Given the description of an element on the screen output the (x, y) to click on. 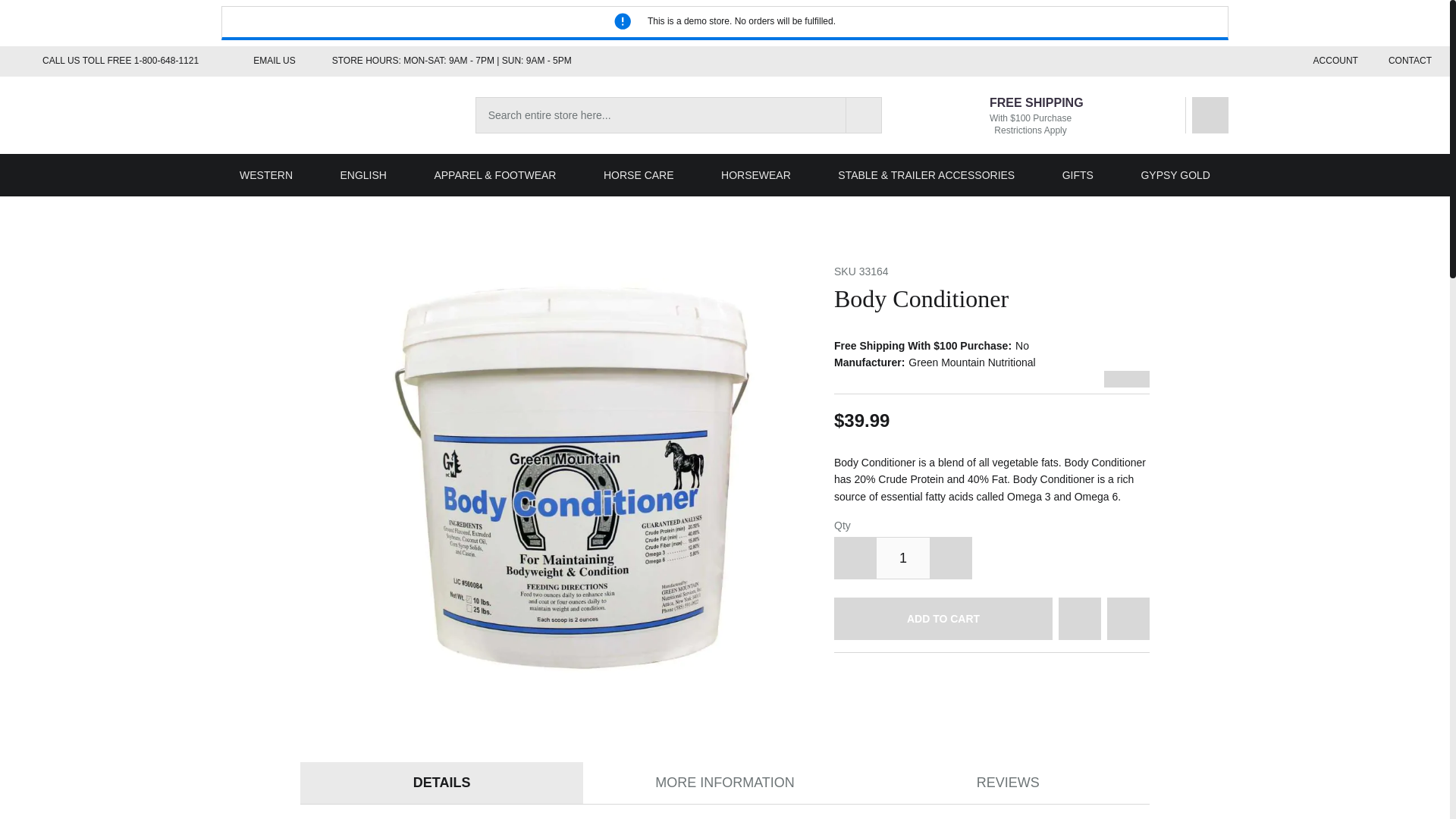
CONTACT (1409, 60)
Add to Cart (943, 618)
EMAIL US (261, 60)
Add to Wish List (1079, 618)
CALL US TOLL FREE 1-800-648-1121 (108, 60)
Qty (903, 558)
ACCOUNT (1335, 60)
1 (903, 558)
Add to Compare (1128, 618)
Skip to content (35, 8)
